Given the description of an element on the screen output the (x, y) to click on. 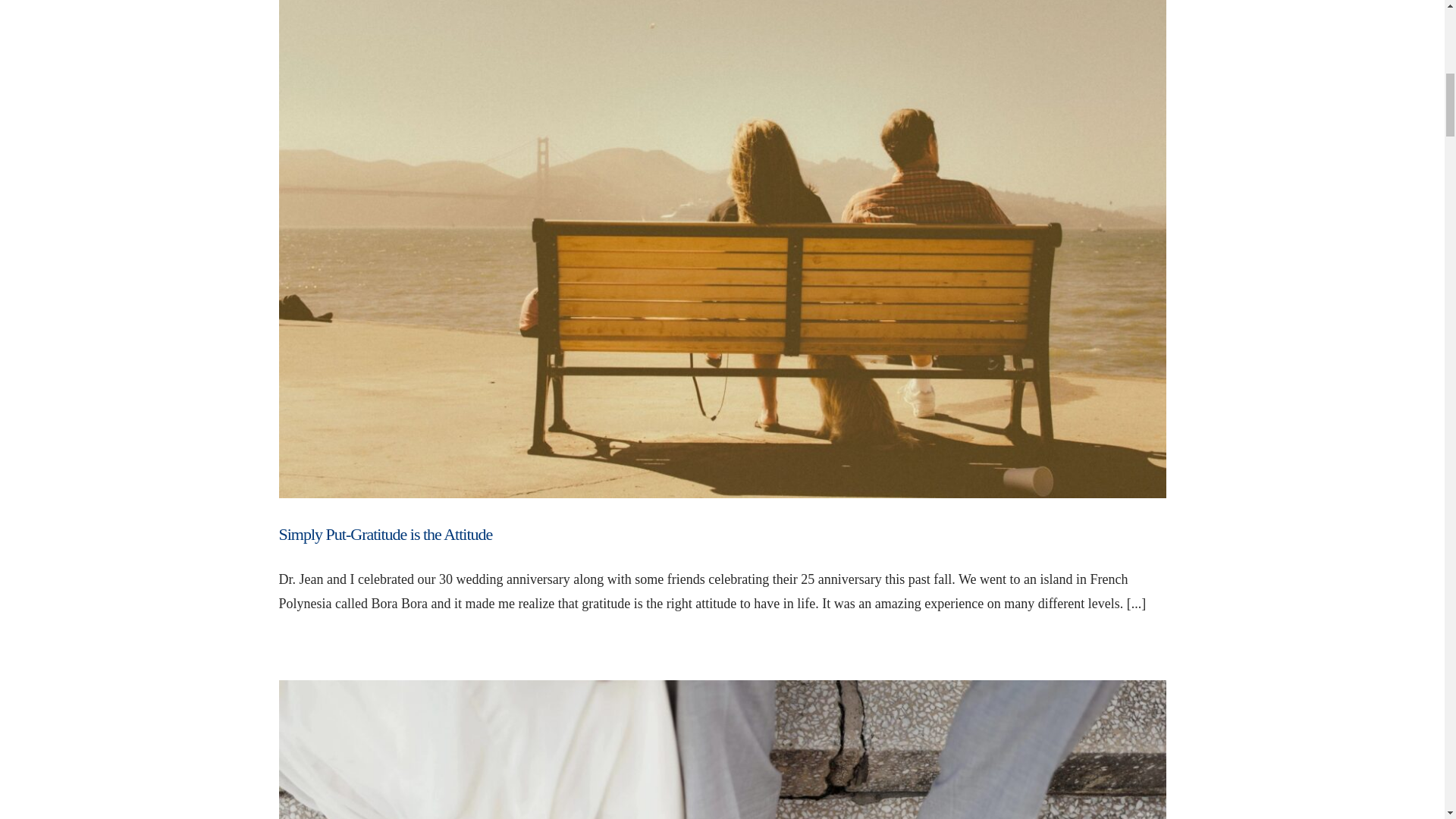
Simply Put-Gratitude is the Attitude (386, 533)
